Given the description of an element on the screen output the (x, y) to click on. 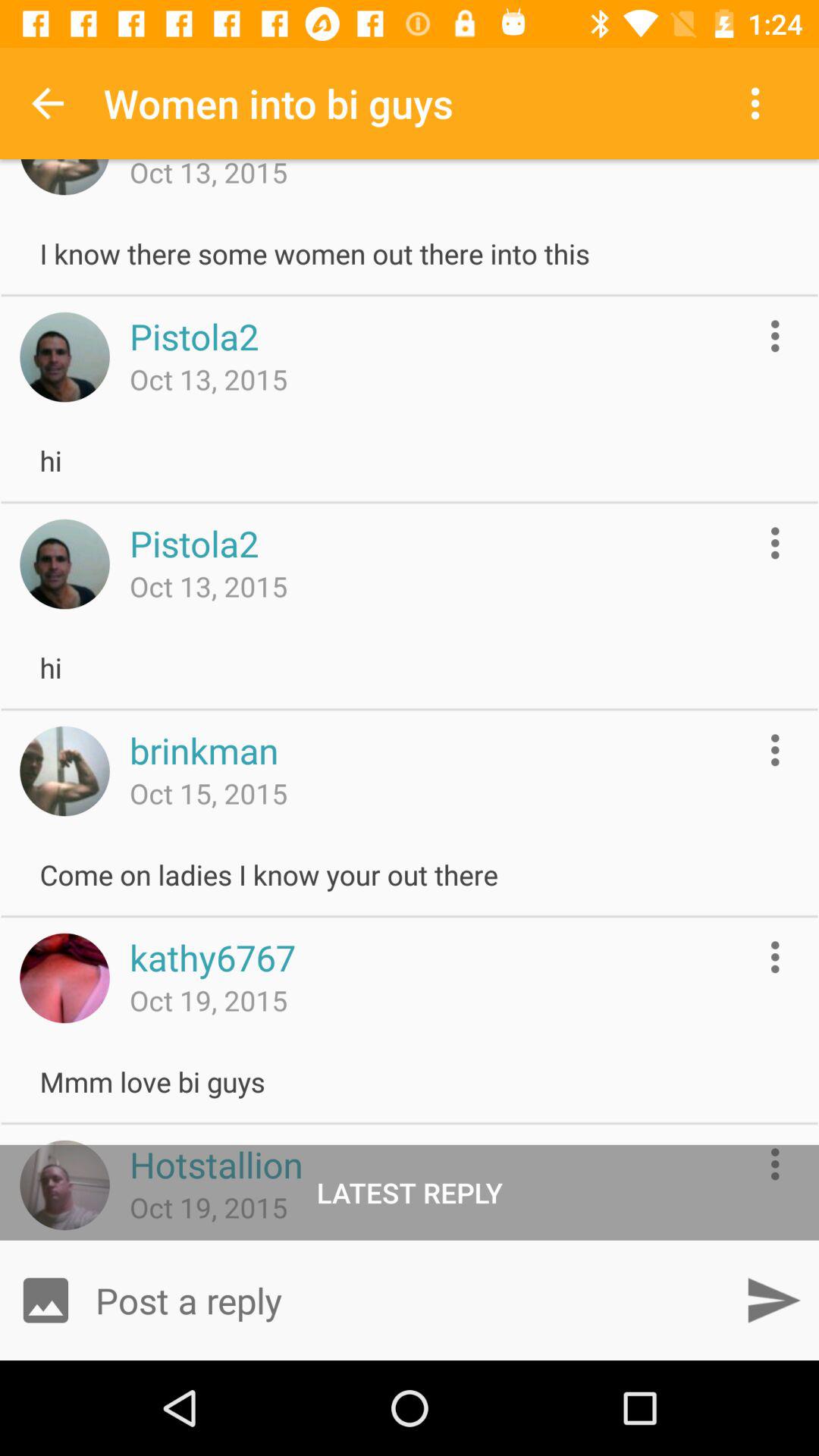
connect to user (64, 1185)
